Given the description of an element on the screen output the (x, y) to click on. 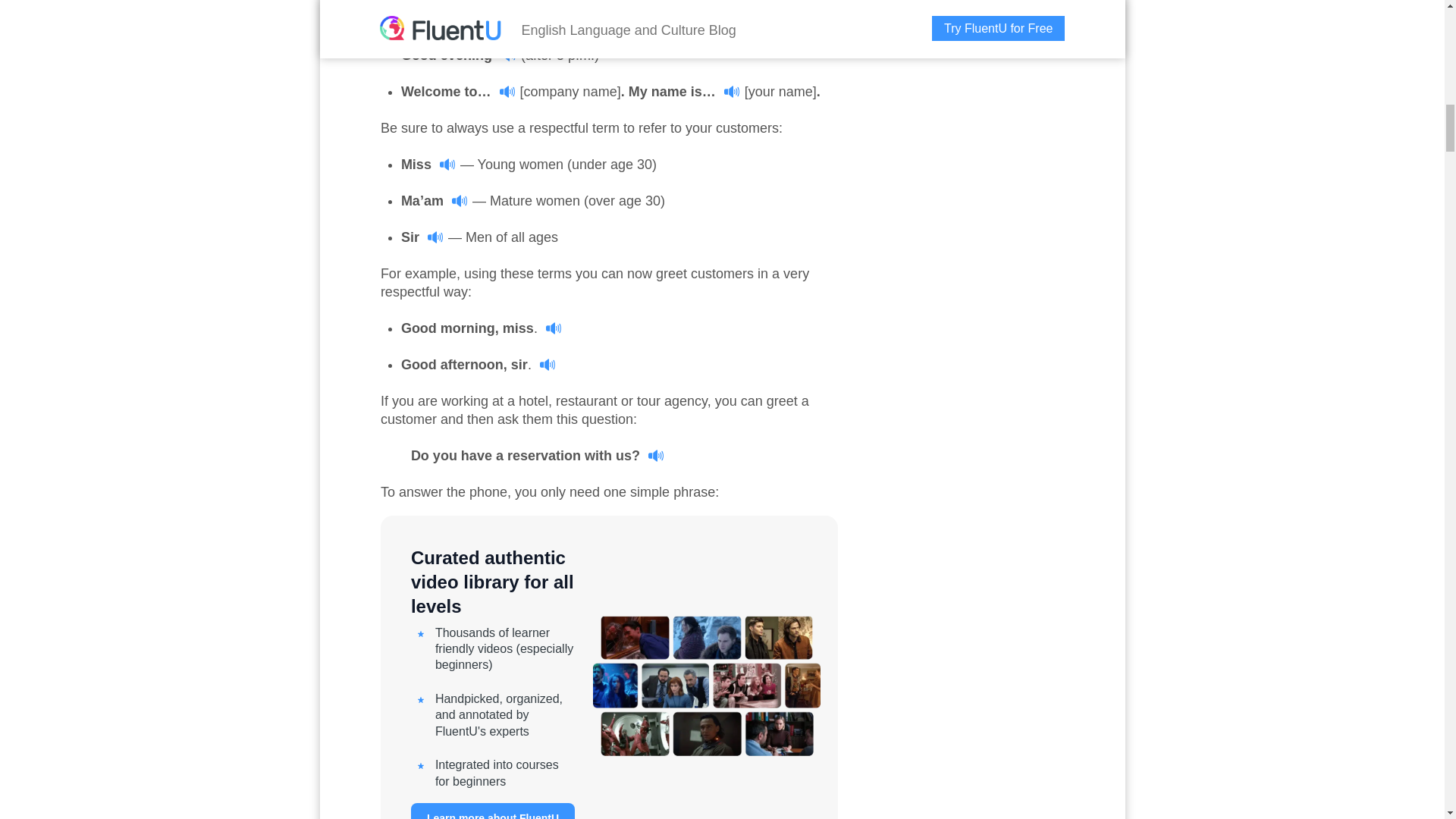
Good morning, miss. (481, 328)
Good evening (458, 55)
Learn more about FluentU (492, 811)
Good afternoon, sir. (478, 364)
Good afternoon (464, 18)
Miss (429, 164)
Sir (422, 237)
Do you have a reservation with us? (537, 455)
